Given the description of an element on the screen output the (x, y) to click on. 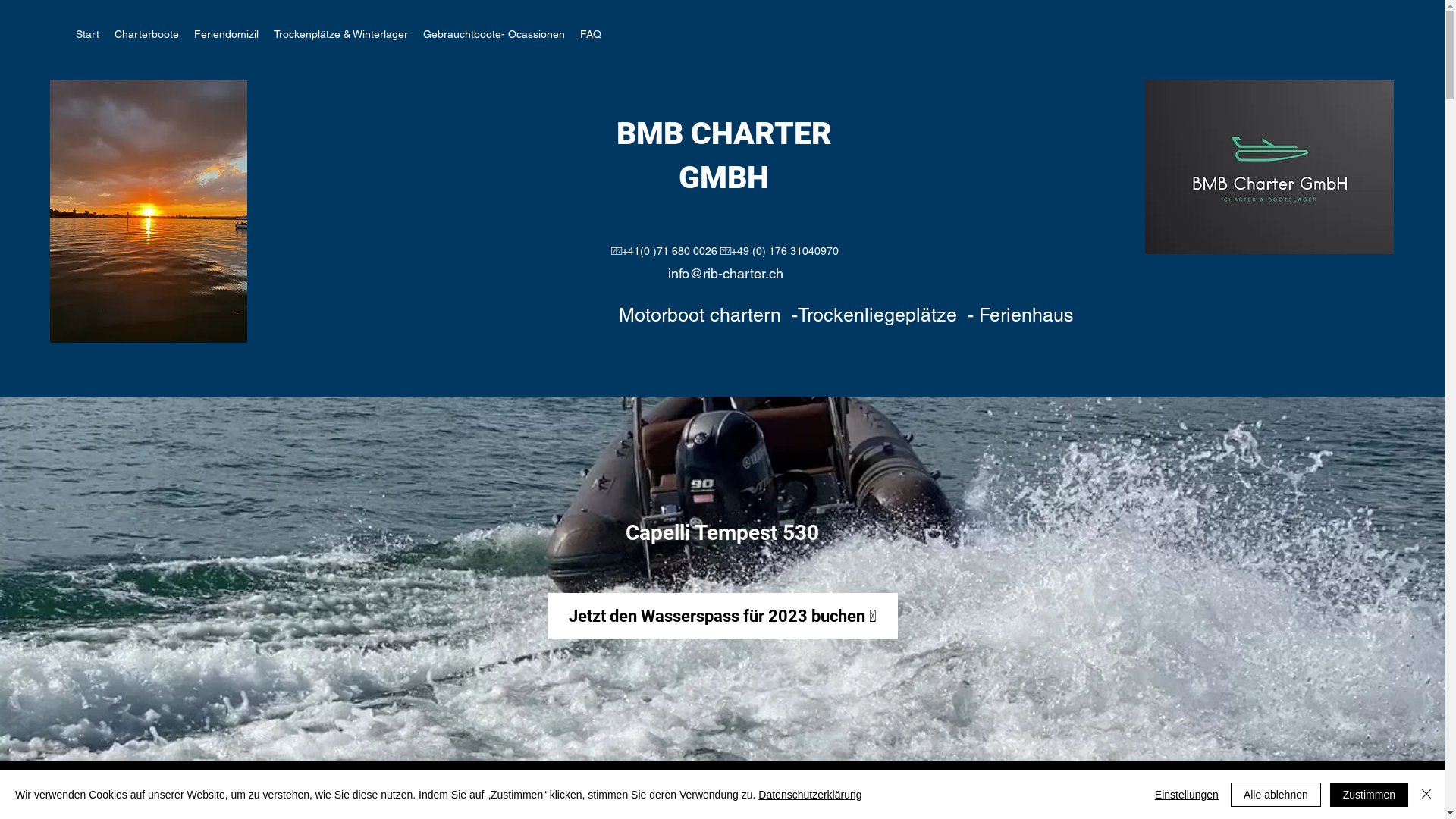
info@rib-charter.ch Element type: text (725, 273)
Zustimmen Element type: text (1369, 794)
Charterboote Element type: text (146, 33)
Capelli530 Sundowner Element type: hover (148, 211)
Feriendomizil Element type: text (226, 33)
Alle ablehnen Element type: text (1275, 794)
Start Element type: text (87, 33)
Gebrauchtboote- Ocassionen Element type: text (493, 33)
FAQ Element type: text (590, 33)
